Given the description of an element on the screen output the (x, y) to click on. 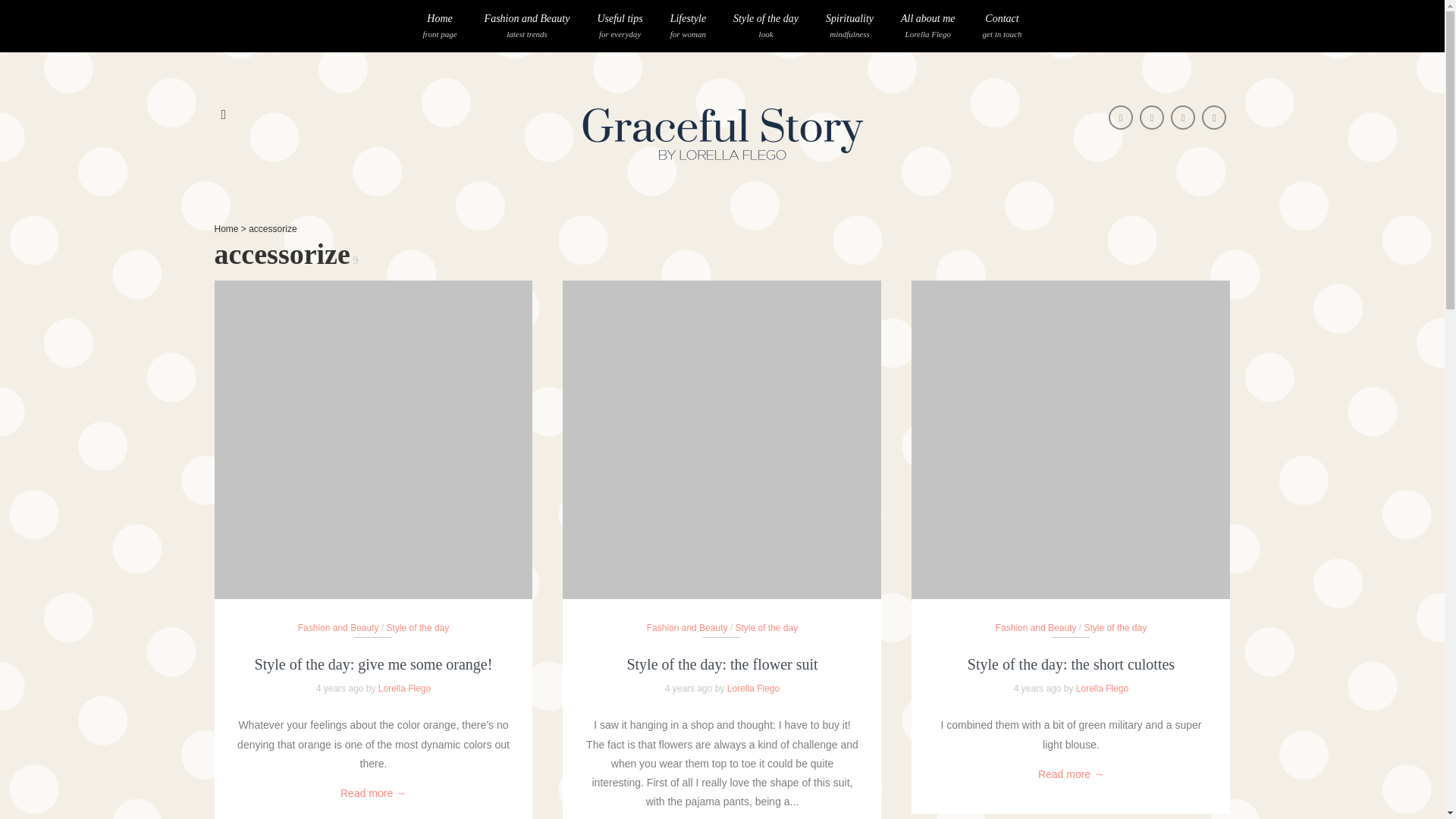
Style of the day: give me some orange! (373, 664)
Search (849, 26)
Home (765, 26)
Lorella Flego (974, 376)
Style of the day: give me some orange! (1002, 26)
Style of the day (927, 26)
Style of the day: the short culottes (226, 228)
